Given the description of an element on the screen output the (x, y) to click on. 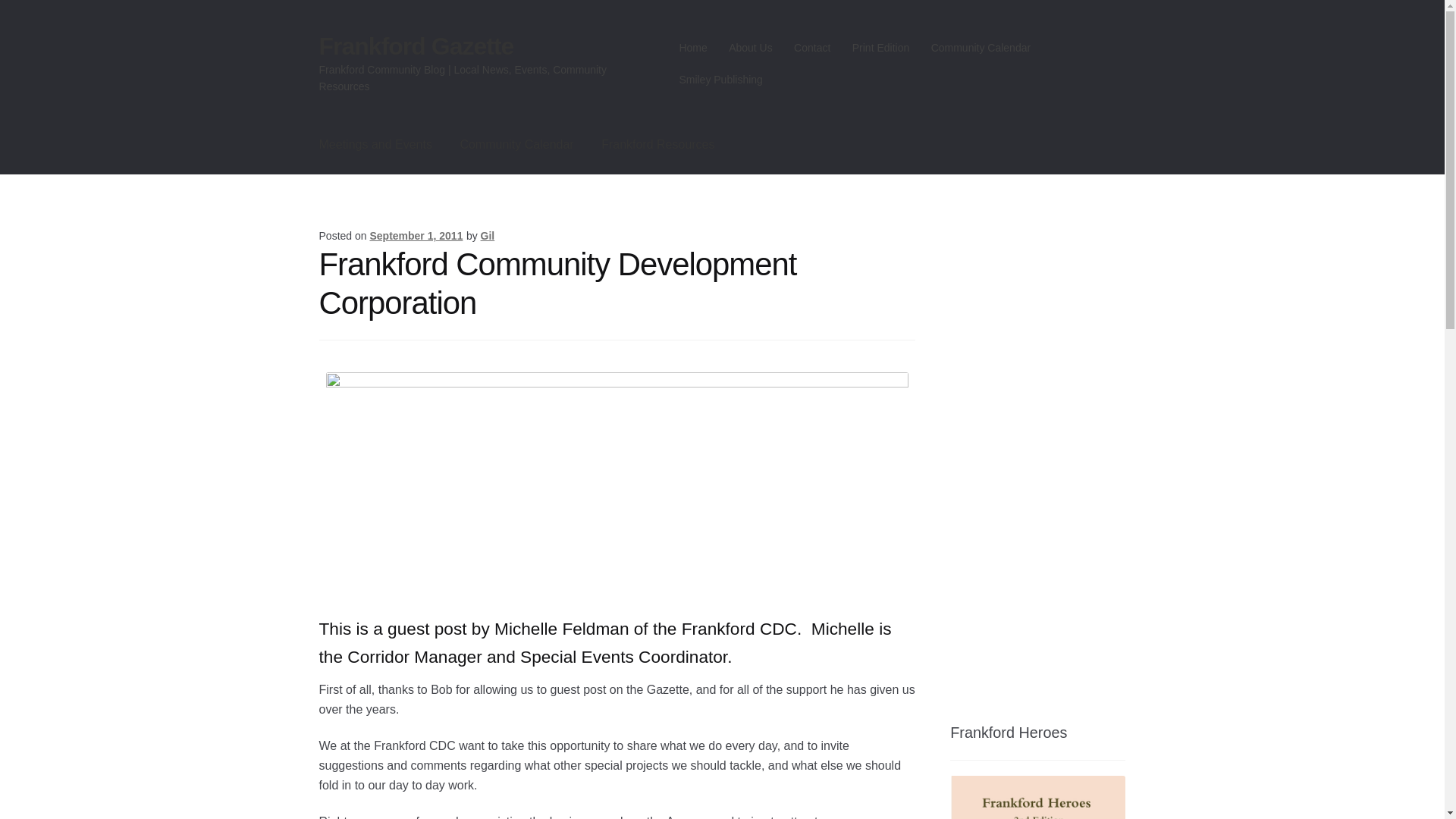
Frankford Resources (657, 144)
Contact (812, 47)
September 1, 2011 (416, 235)
Print Edition (880, 47)
Smiley Publishing (720, 79)
Frankford Gazette (415, 45)
About Us (750, 47)
Gil (487, 235)
Community Calendar (980, 47)
Community Calendar (515, 144)
Home (692, 47)
Meetings and Events (375, 144)
